Given the description of an element on the screen output the (x, y) to click on. 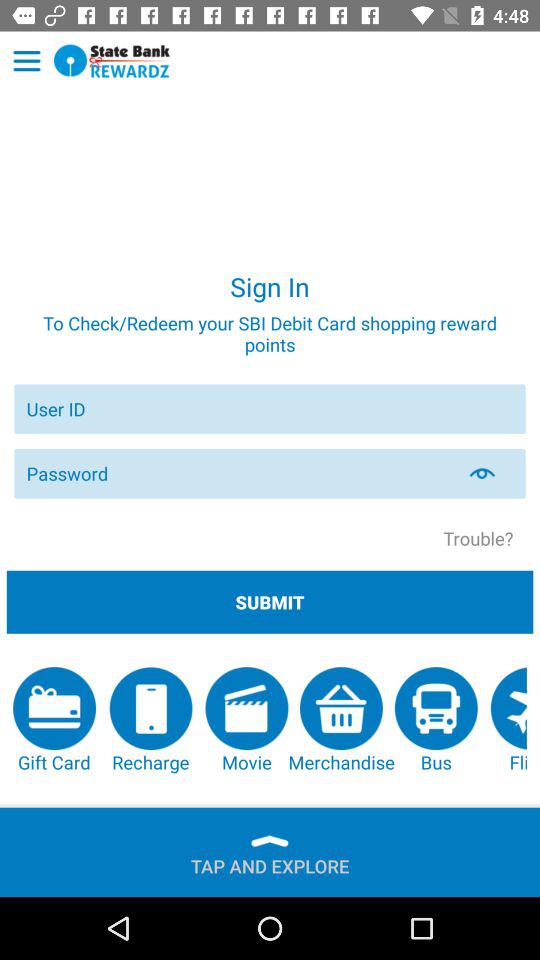
launch the item to the right of recharge app (246, 720)
